Given the description of an element on the screen output the (x, y) to click on. 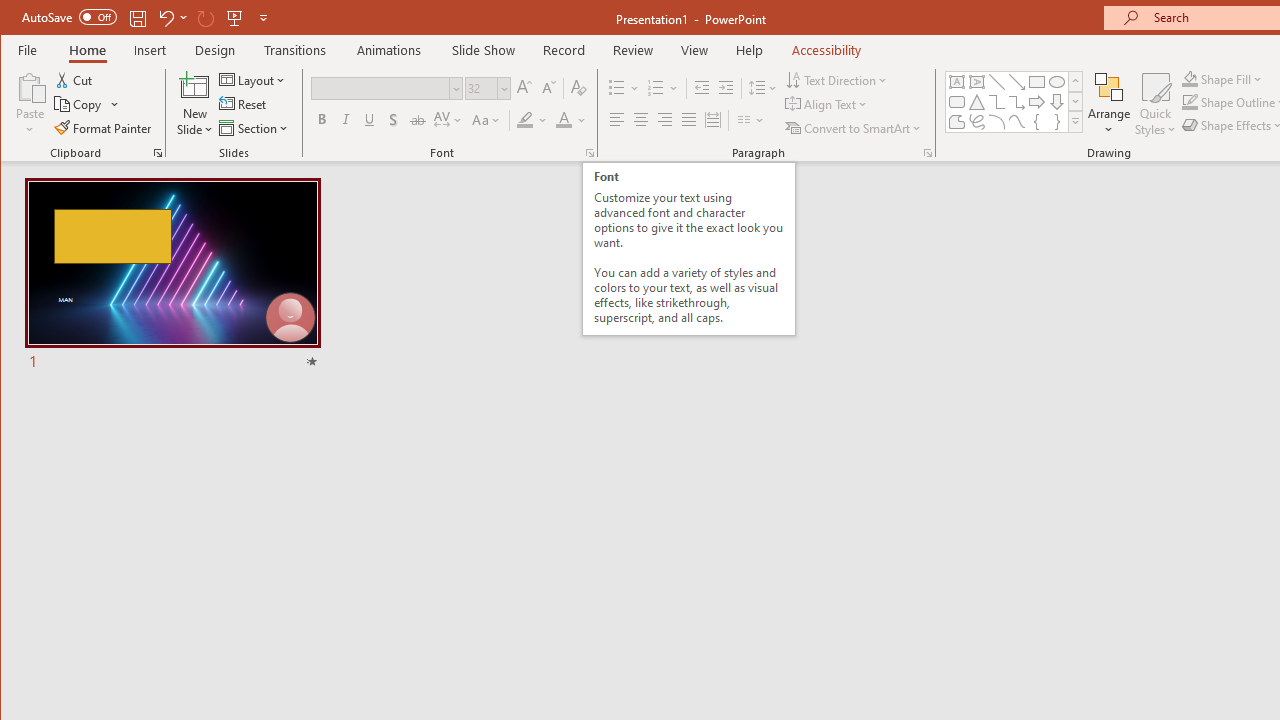
Shape Outline Blue, Accent 1 (1189, 101)
